Given the description of an element on the screen output the (x, y) to click on. 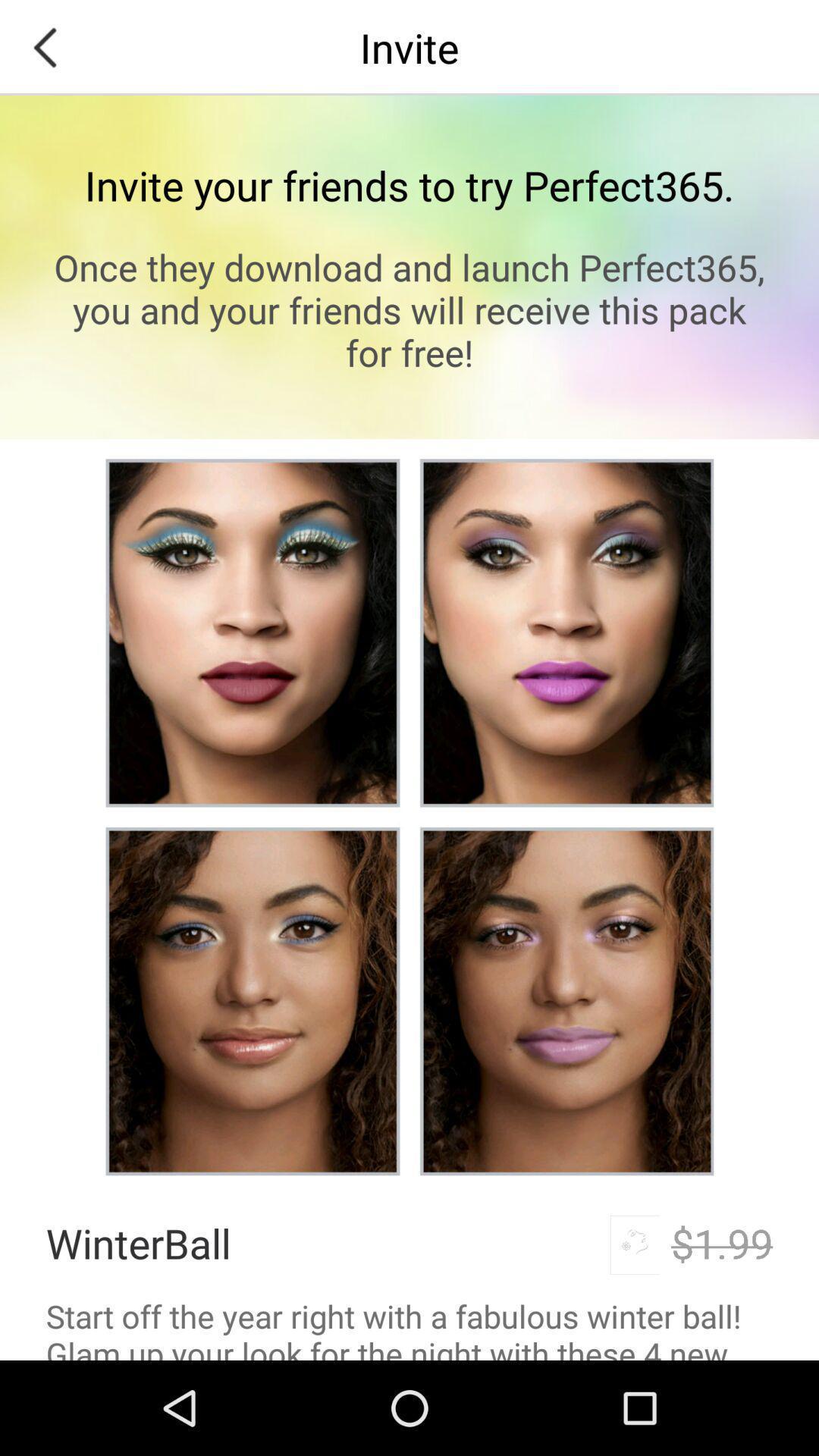
scroll to the $1.99 item (721, 1242)
